Given the description of an element on the screen output the (x, y) to click on. 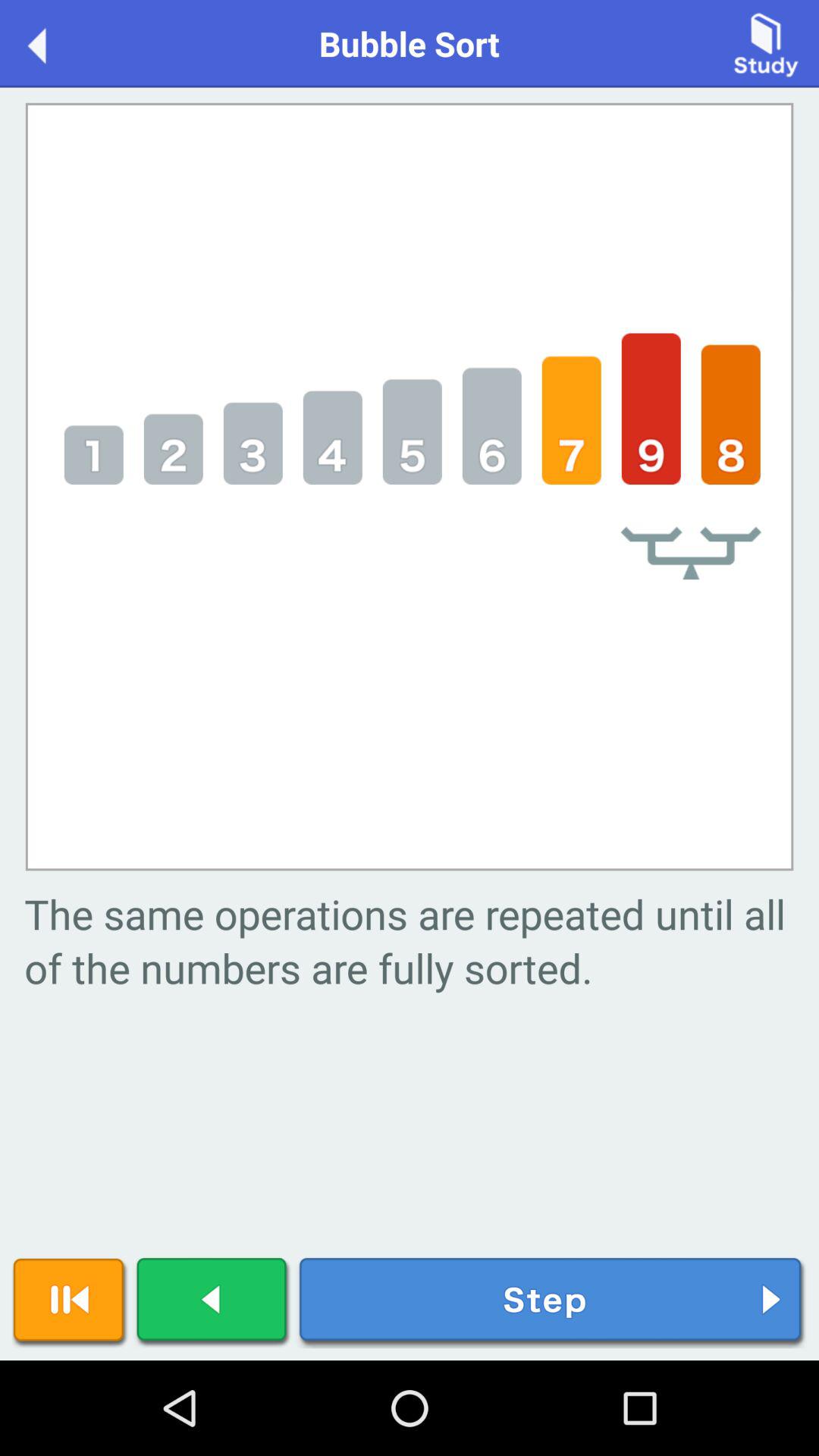
enter study (766, 42)
